Given the description of an element on the screen output the (x, y) to click on. 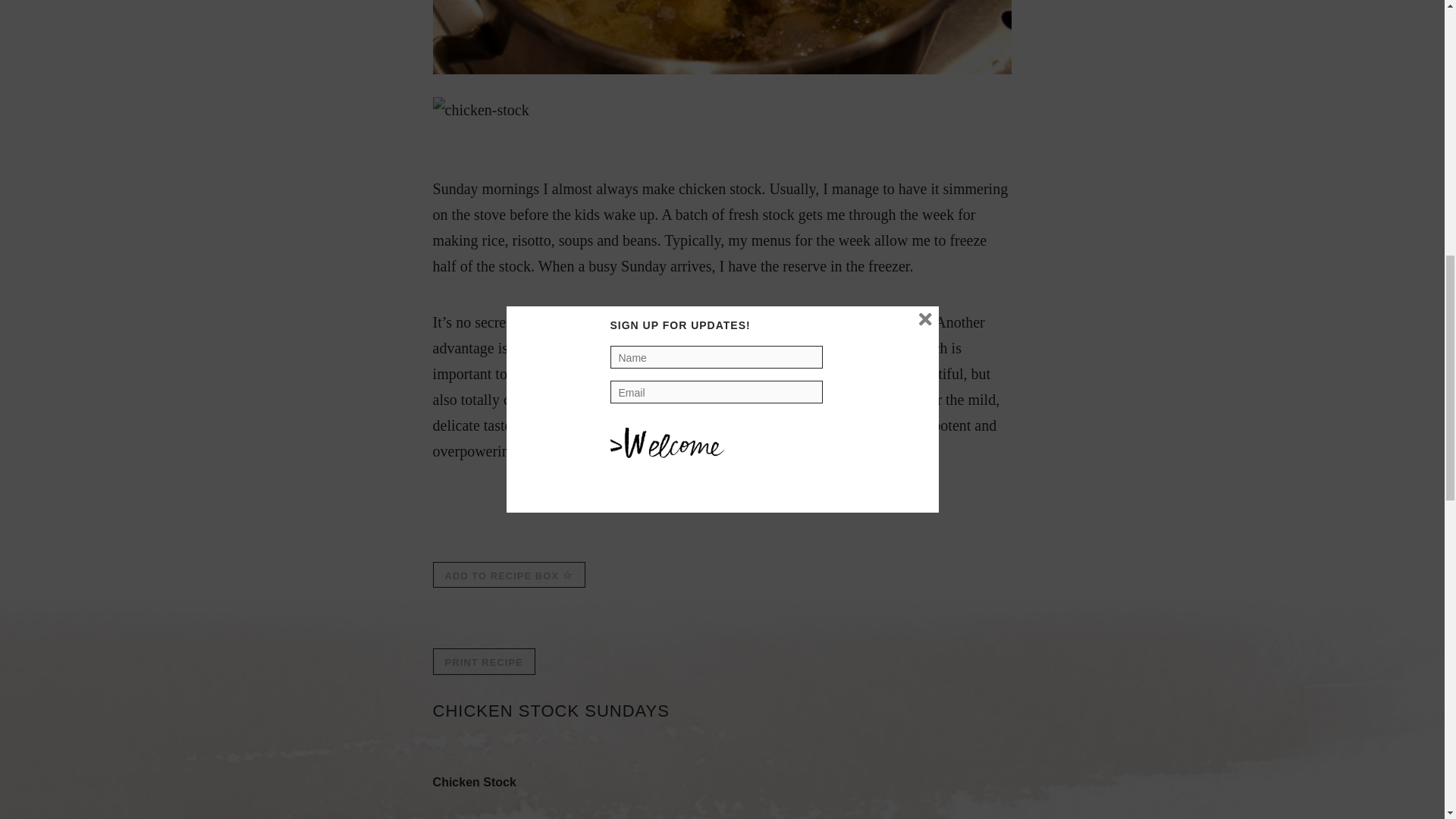
PRINT RECIPE (483, 661)
chicken-stock (480, 109)
ADD TO RECIPE BOX (508, 574)
